Given the description of an element on the screen output the (x, y) to click on. 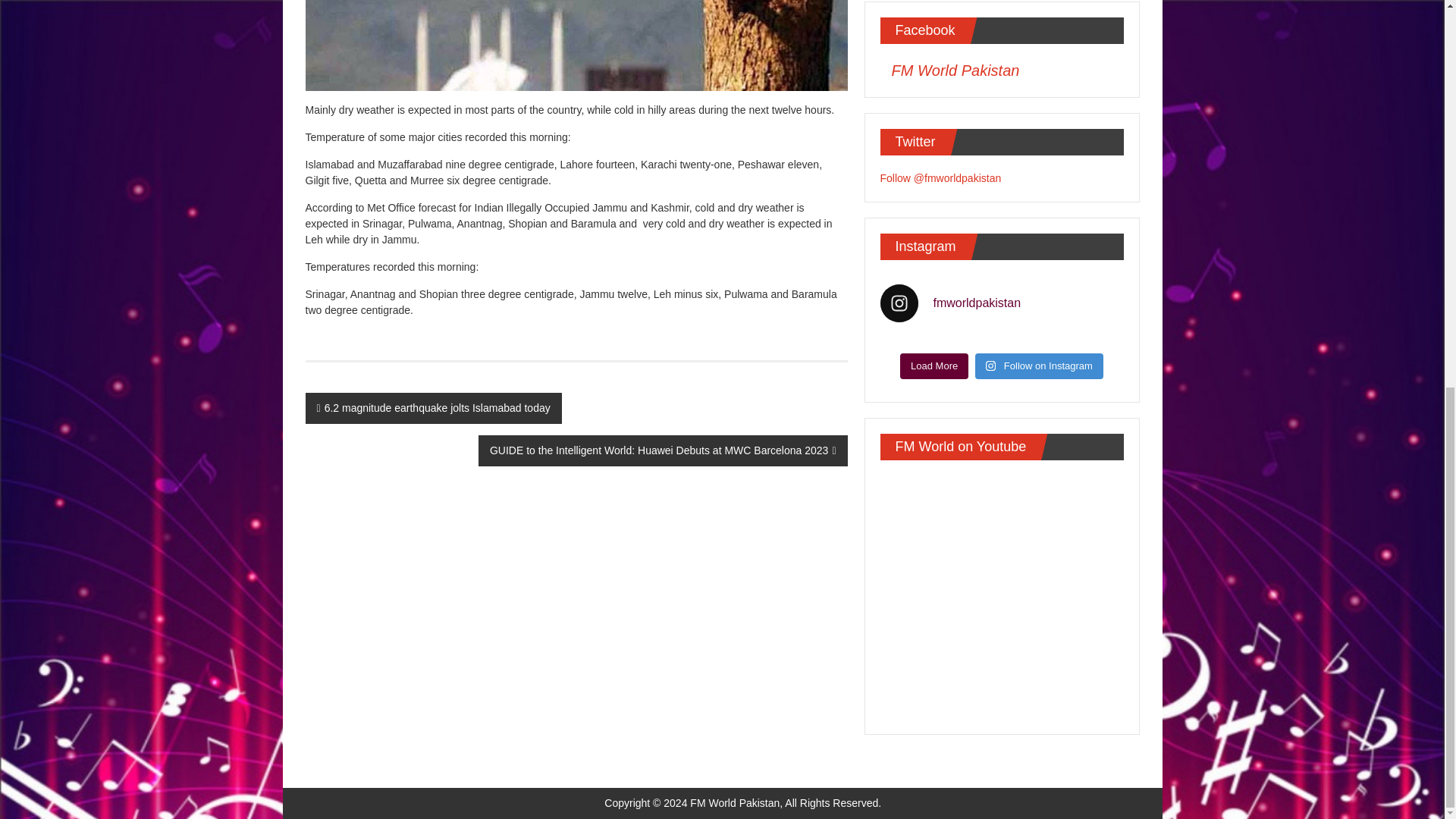
fmworldpakistan (1000, 303)
6.2 magnitude earthquake jolts Islamabad today (432, 408)
Load More (933, 365)
Follow on Instagram (1039, 365)
YouTube video player (1000, 594)
FM World Pakistan (955, 70)
